Given the description of an element on the screen output the (x, y) to click on. 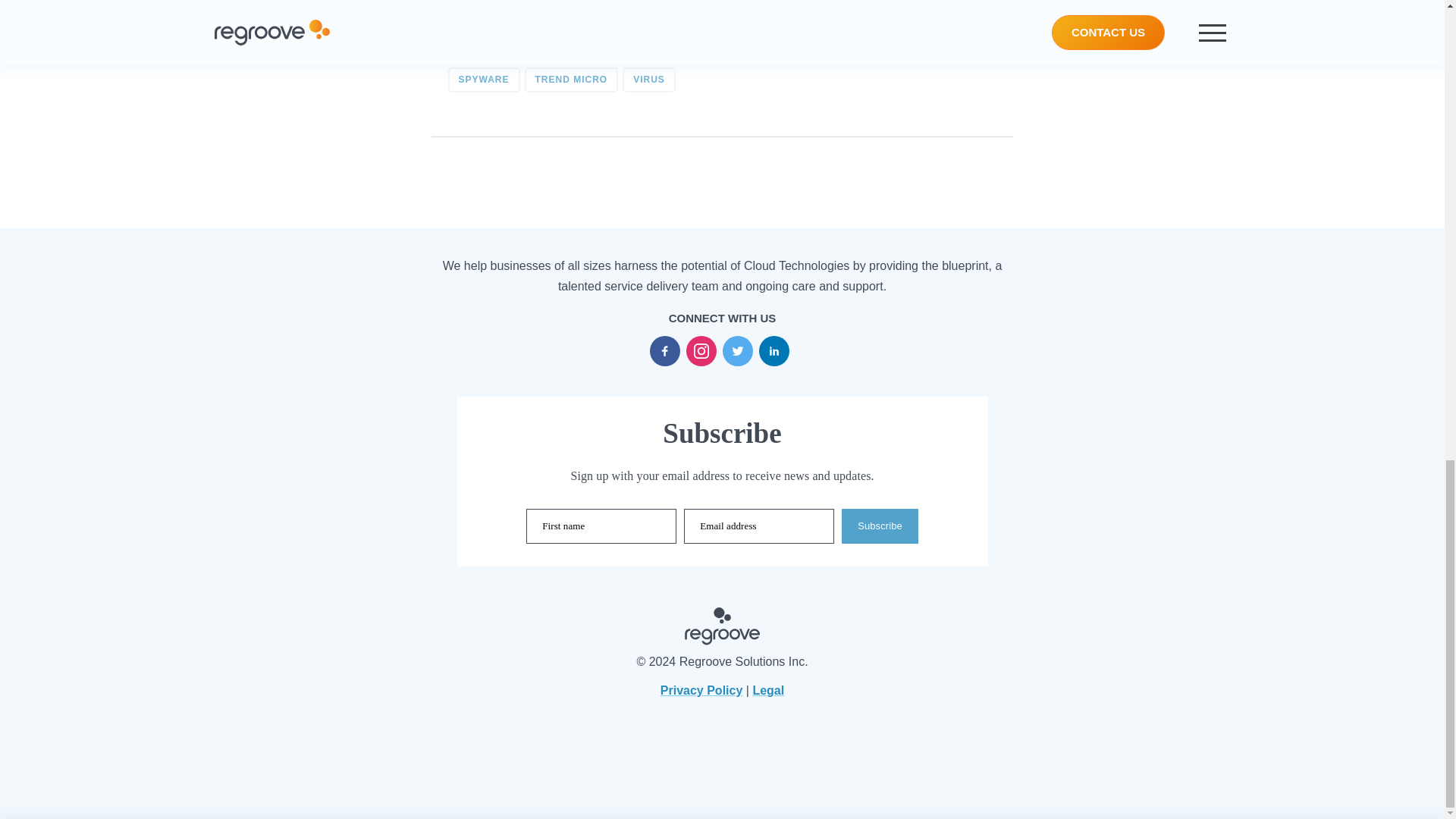
TREND MICRO (571, 79)
HELP (680, 50)
Privacy Policy (701, 689)
REMOVAL (923, 50)
CRYOTOLOCKER (500, 50)
RANSOMWARE (835, 50)
CRYPTOWALL (604, 50)
SPYWARE (482, 79)
VIRUS (649, 79)
Subscribe (879, 525)
MALWARE (745, 50)
